Given the description of an element on the screen output the (x, y) to click on. 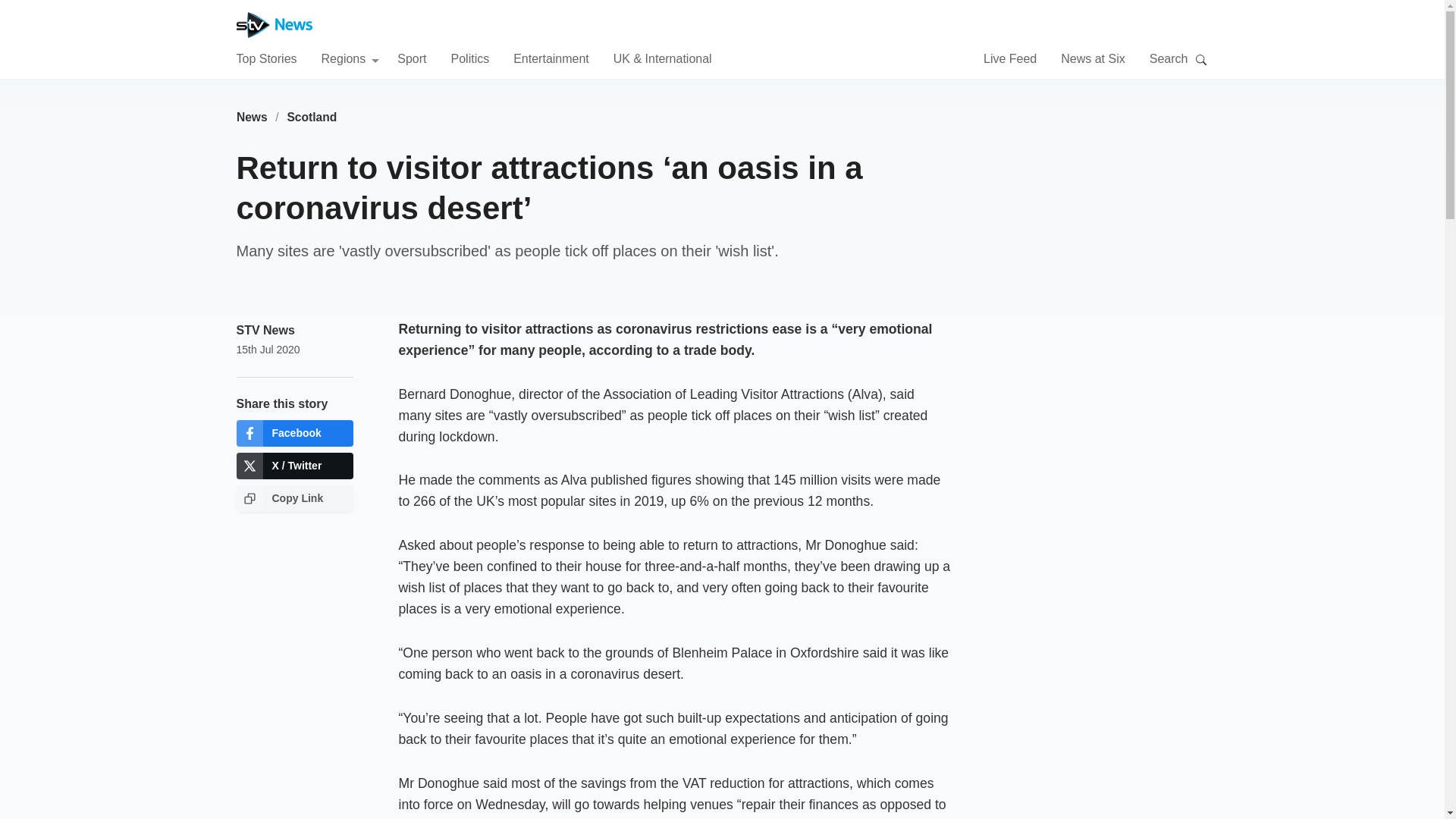
Live Feed (1010, 57)
News at Six (1092, 57)
News (252, 116)
Regions (350, 57)
Politics (469, 57)
Entertainment (551, 57)
Top Stories (266, 57)
Search (1201, 59)
Scotland (312, 116)
Facebook (294, 433)
Sport (411, 57)
